Given the description of an element on the screen output the (x, y) to click on. 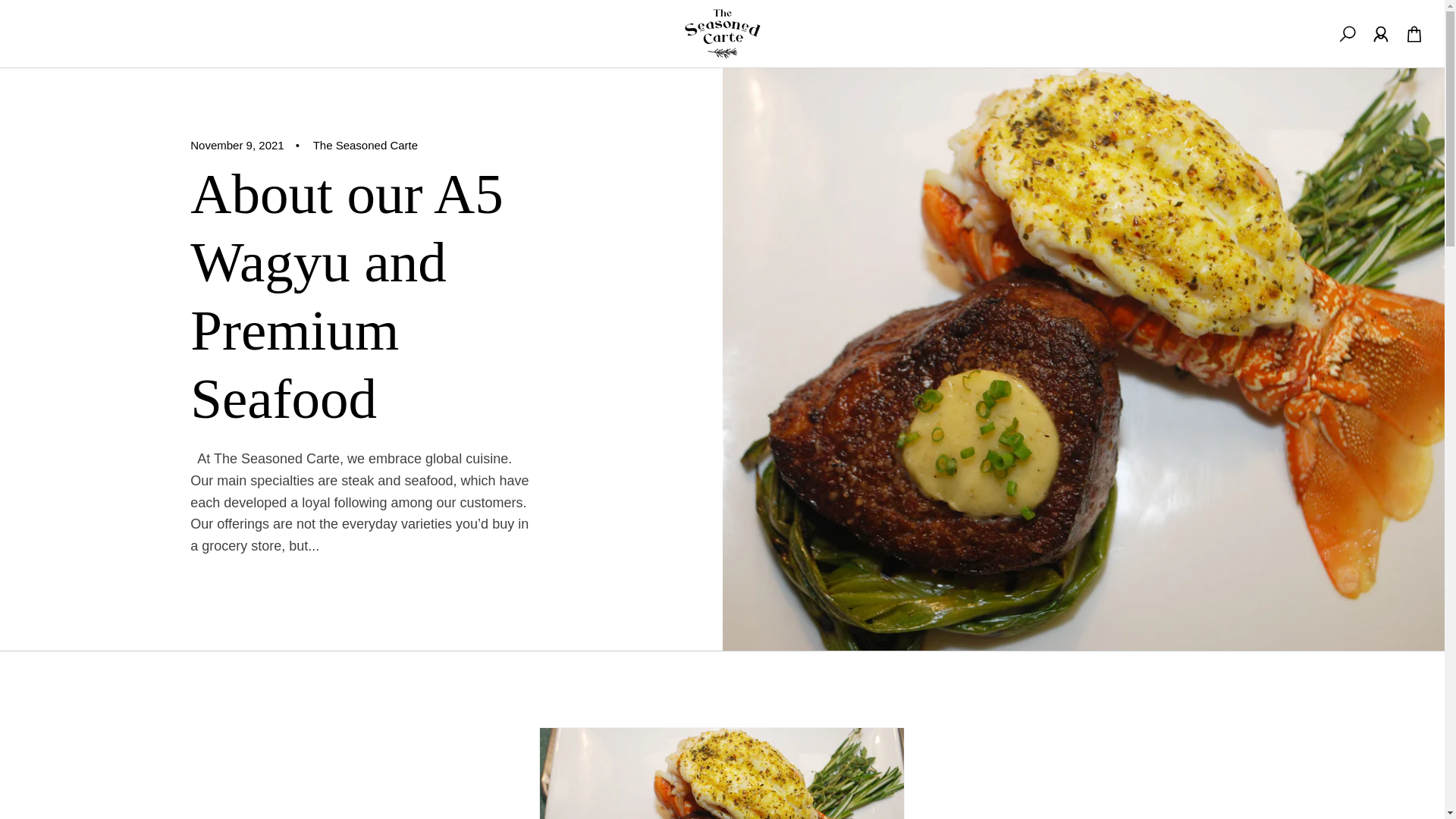
Log in (1380, 34)
Cart (1414, 34)
Skip to content (45, 17)
